Given the description of an element on the screen output the (x, y) to click on. 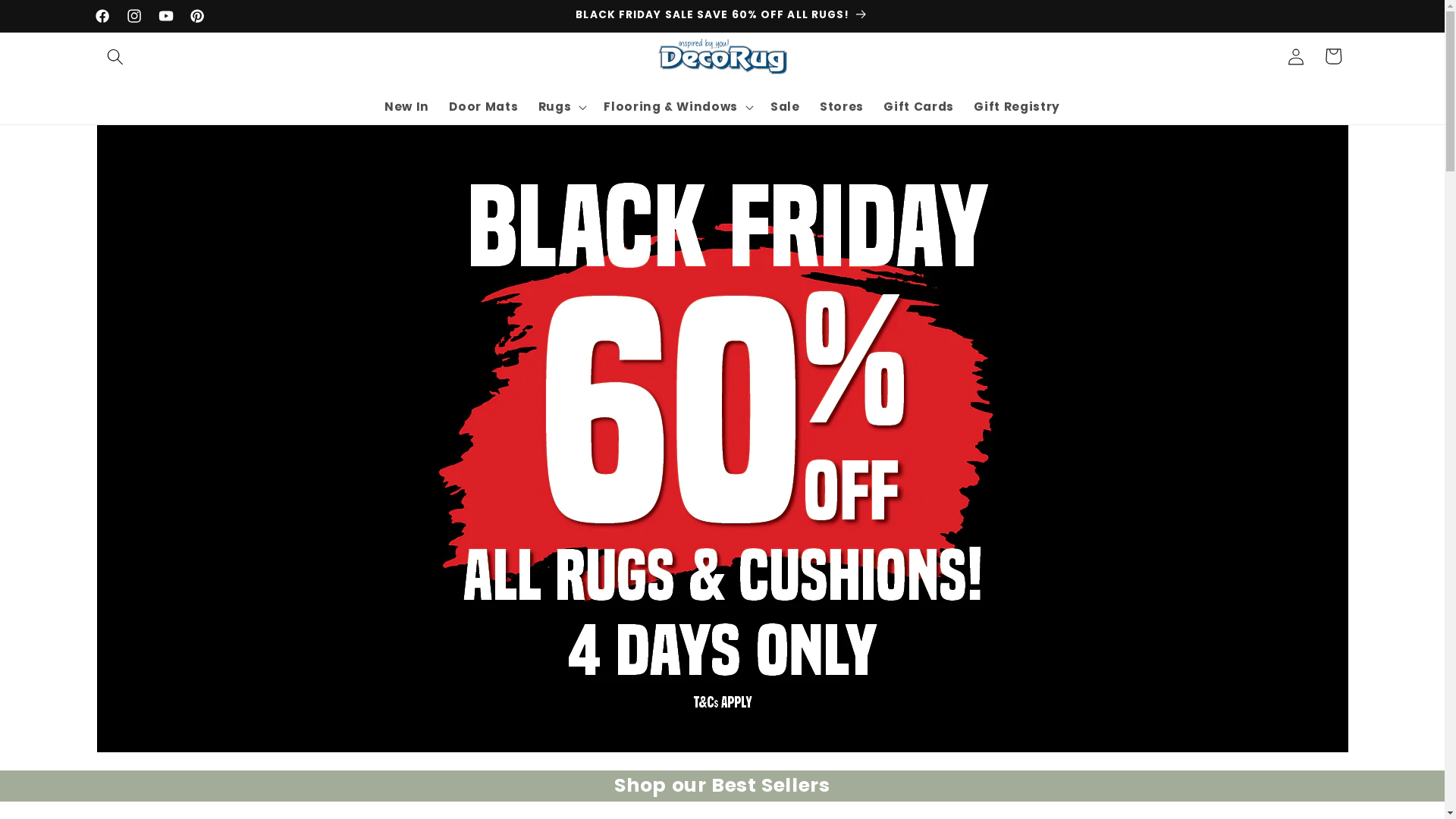
Stores Element type: text (841, 106)
Pinterest Element type: text (197, 15)
BLACK FRIDAY SALE SAVE 60% OFF ALL RUGS! Element type: text (721, 15)
Instagram Element type: text (134, 15)
Facebook Element type: text (102, 15)
Sale Element type: text (784, 106)
Log in Element type: text (1295, 55)
Door Mats Element type: text (483, 106)
Gift Cards Element type: text (918, 106)
New In Element type: text (406, 106)
Gift Registry Element type: text (1016, 106)
YouTube Element type: text (166, 15)
Cart Element type: text (1332, 55)
